Given the description of an element on the screen output the (x, y) to click on. 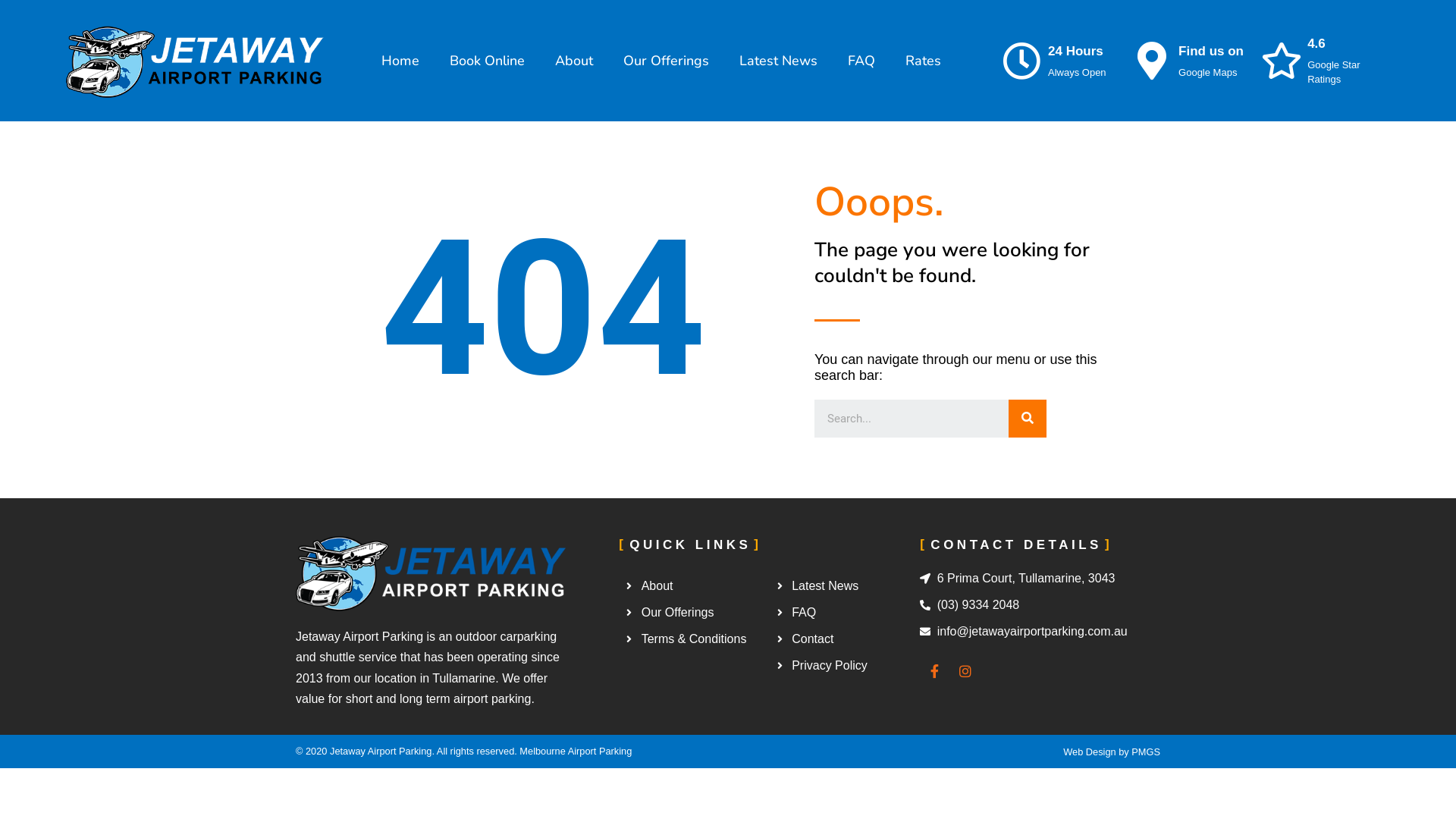
FAQ Element type: text (845, 612)
Home Element type: text (400, 60)
(03) 9334 2048 Element type: text (1038, 605)
Rates Element type: text (923, 60)
Book Online Element type: text (486, 60)
Our Offerings Element type: text (694, 612)
PMGS Element type: text (1145, 751)
Privacy Policy Element type: text (845, 665)
Terms & Conditions Element type: text (694, 639)
Our Offerings Element type: text (666, 60)
Contact Element type: text (845, 639)
About Element type: text (694, 586)
Find us on Element type: text (1210, 50)
Latest News Element type: text (778, 60)
Search Element type: hover (911, 418)
4.6 Element type: text (1316, 43)
Search Element type: hover (1027, 418)
Latest News Element type: text (845, 586)
6 Prima Court, Tullamarine, 3043 Element type: text (1038, 578)
About Element type: text (573, 60)
info@jetawayairportparking.com.au Element type: text (1038, 631)
FAQ Element type: text (861, 60)
